Given the description of an element on the screen output the (x, y) to click on. 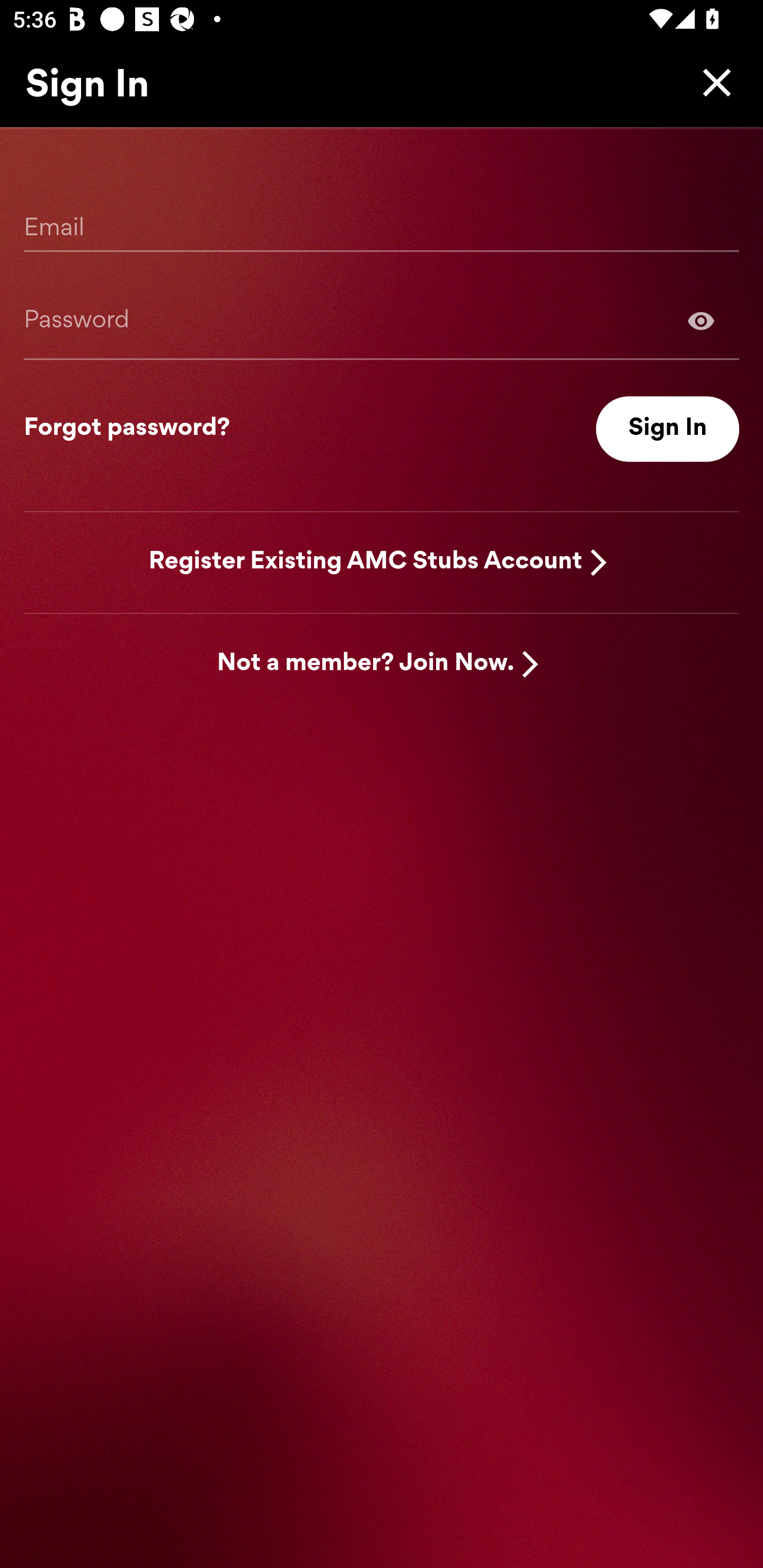
Close (712, 82)
Show Password (381, 320)
Show Password (701, 320)
Forgot password? (126, 428)
Sign In (667, 428)
Register Existing AMC Stubs Account (365, 561)
Not a member? Join Now. (365, 663)
